Given the description of an element on the screen output the (x, y) to click on. 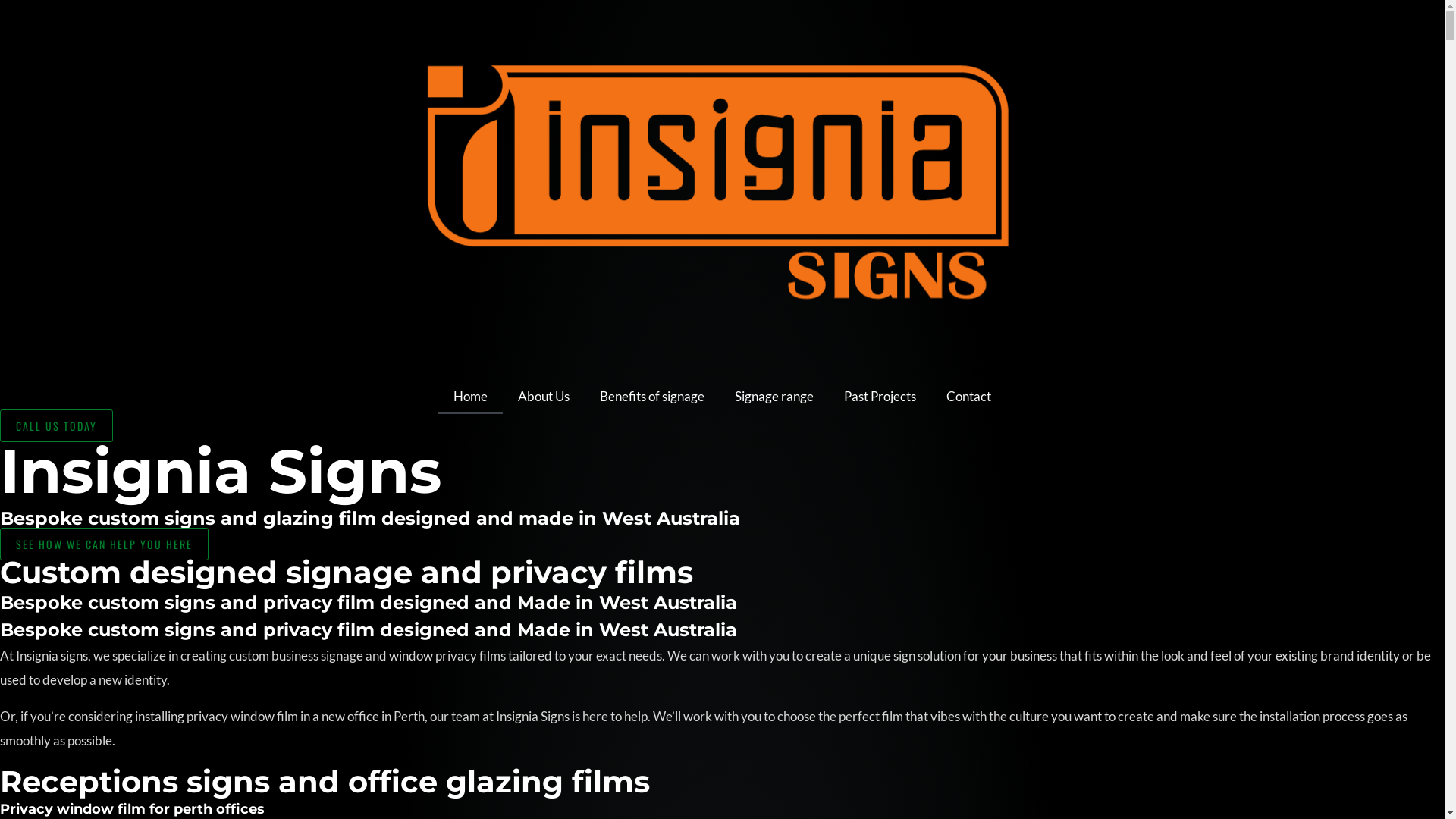
Signage range Element type: text (773, 396)
Privacy window film for perth offices Element type: text (132, 808)
Contact Element type: text (968, 396)
Receptions signs and office glazing films Element type: text (324, 781)
Past Projects Element type: text (879, 396)
Benefits of signage Element type: text (651, 396)
CALL US TODAY Element type: text (56, 425)
SEE HOW WE CAN HELP YOU HERE Element type: text (104, 543)
Home Element type: text (470, 396)
About Us Element type: text (543, 396)
